Given the description of an element on the screen output the (x, y) to click on. 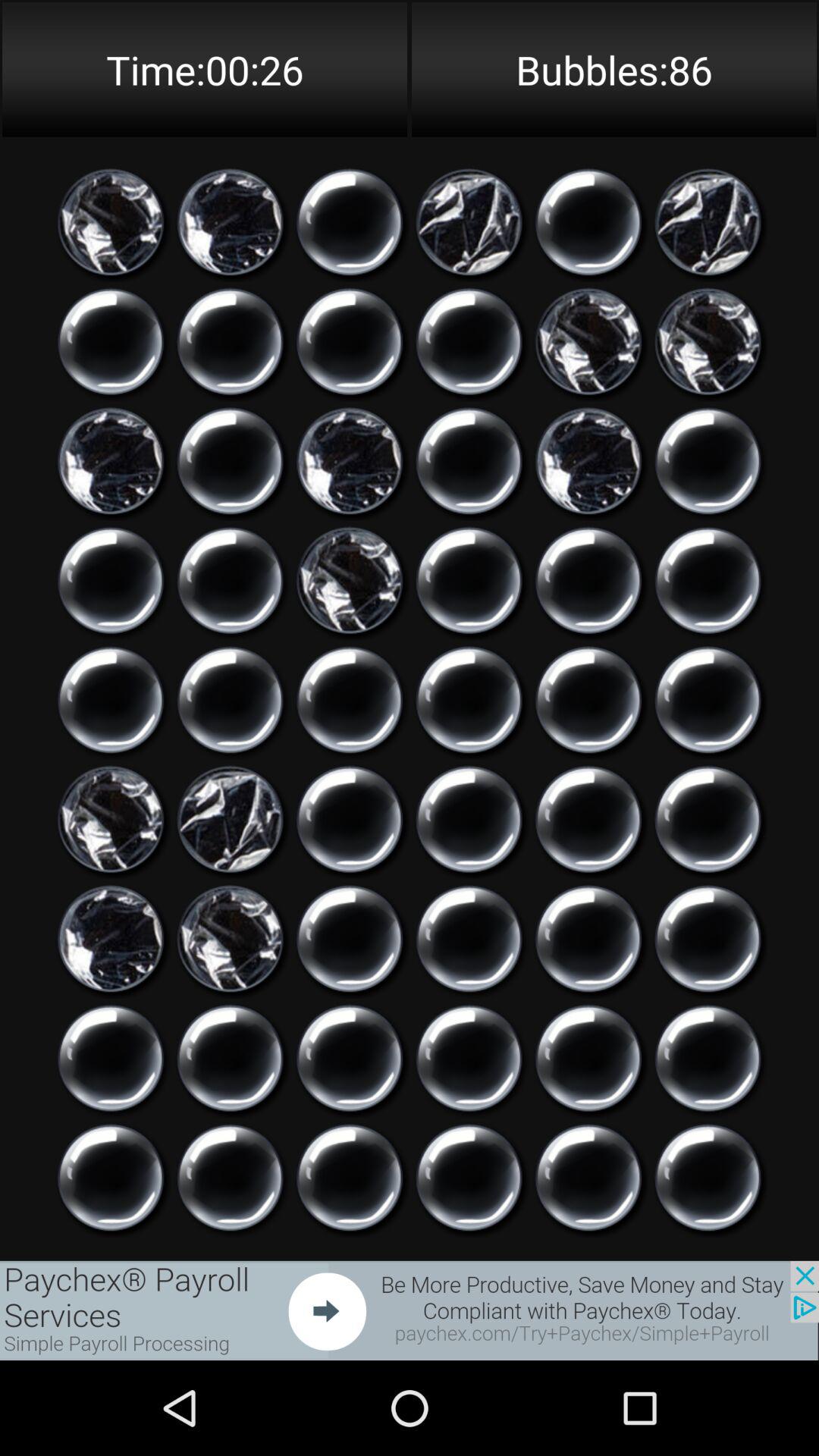
make the bubble burst (110, 938)
